Given the description of an element on the screen output the (x, y) to click on. 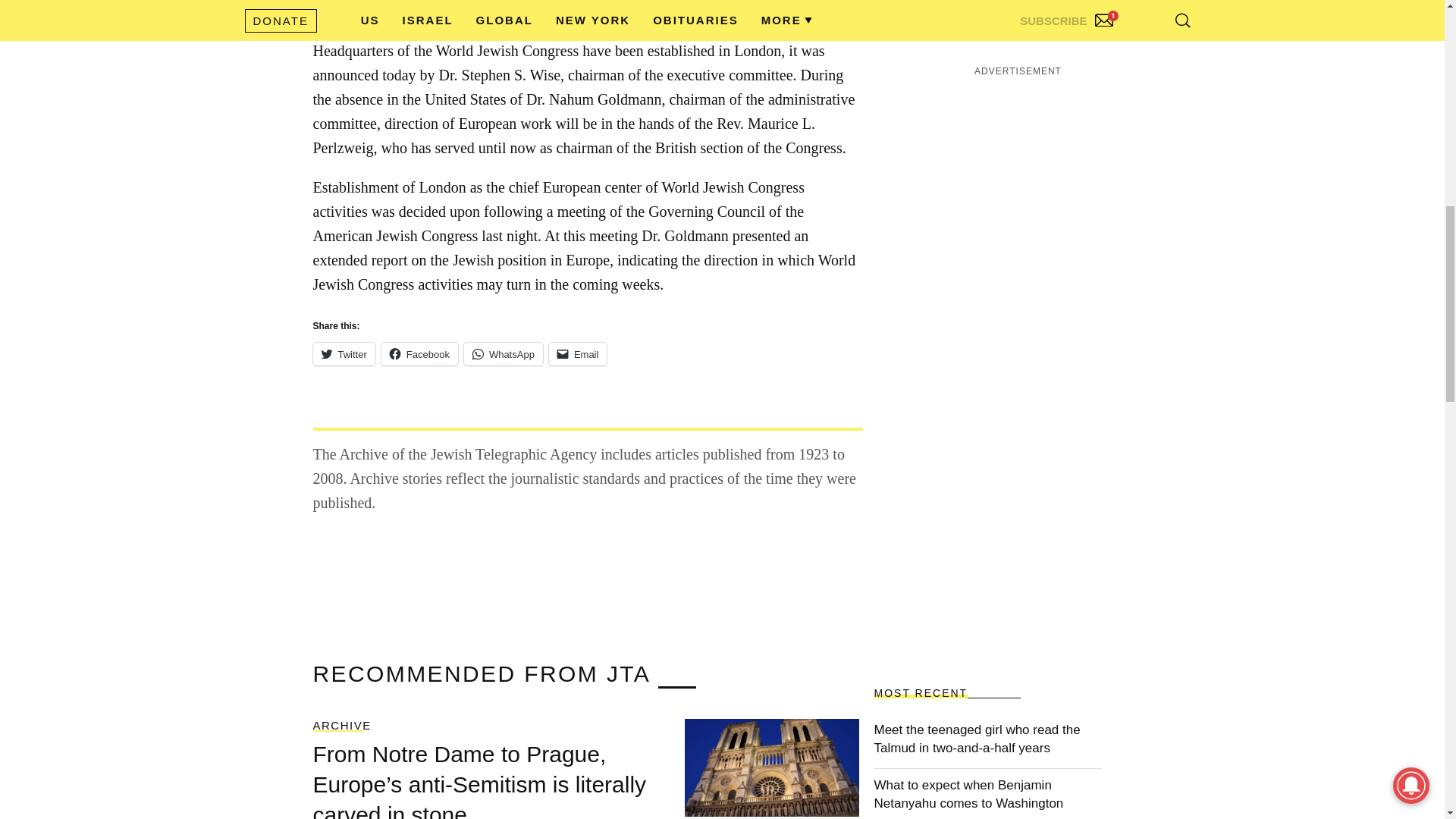
Click to share on Facebook (419, 354)
Click to share on Twitter (343, 354)
Click to share on WhatsApp (503, 354)
Click to email a link to a friend (577, 354)
